Given the description of an element on the screen output the (x, y) to click on. 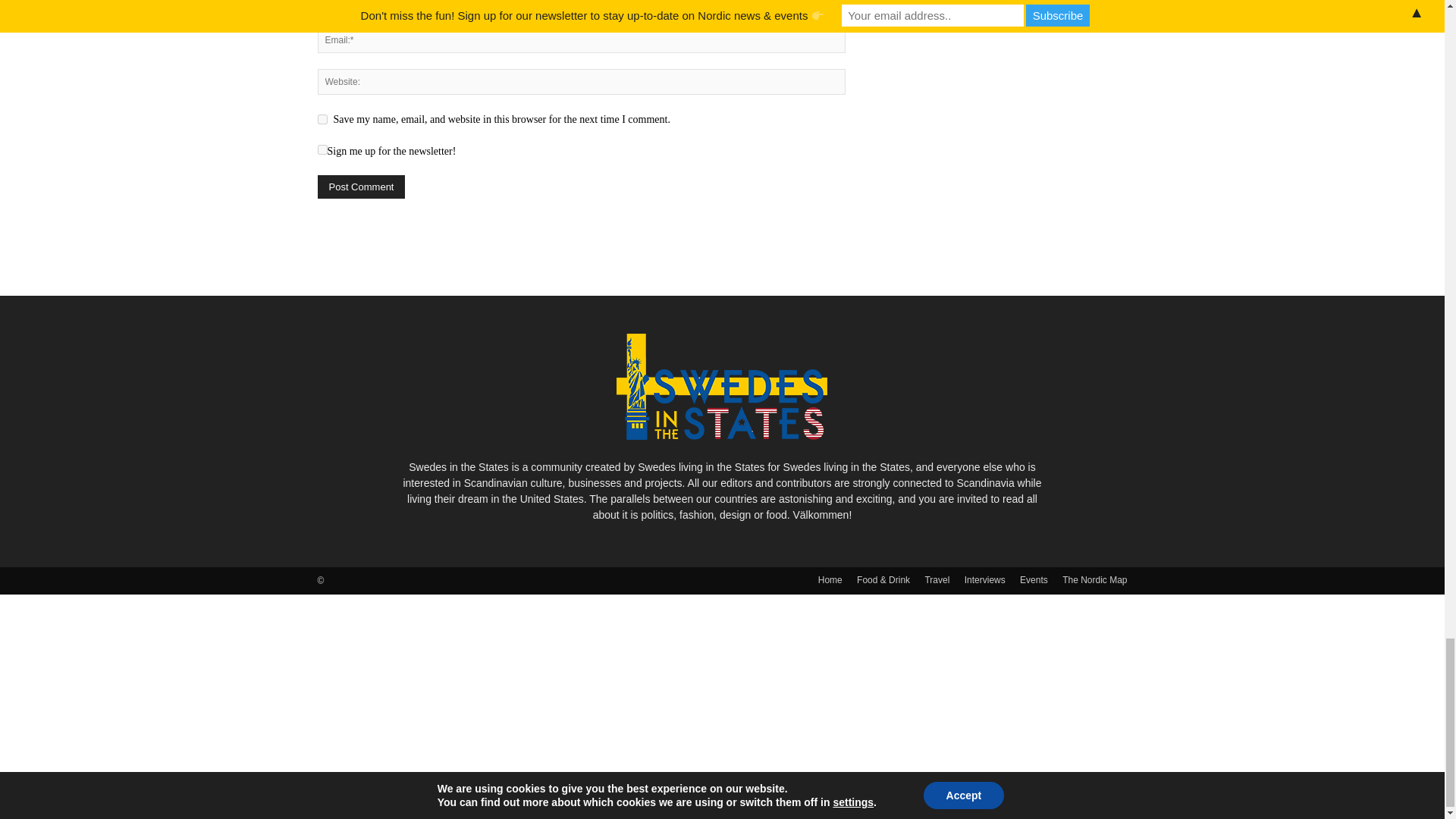
Post Comment (360, 187)
yes (321, 119)
Post Comment (360, 187)
1 (321, 149)
